Given the description of an element on the screen output the (x, y) to click on. 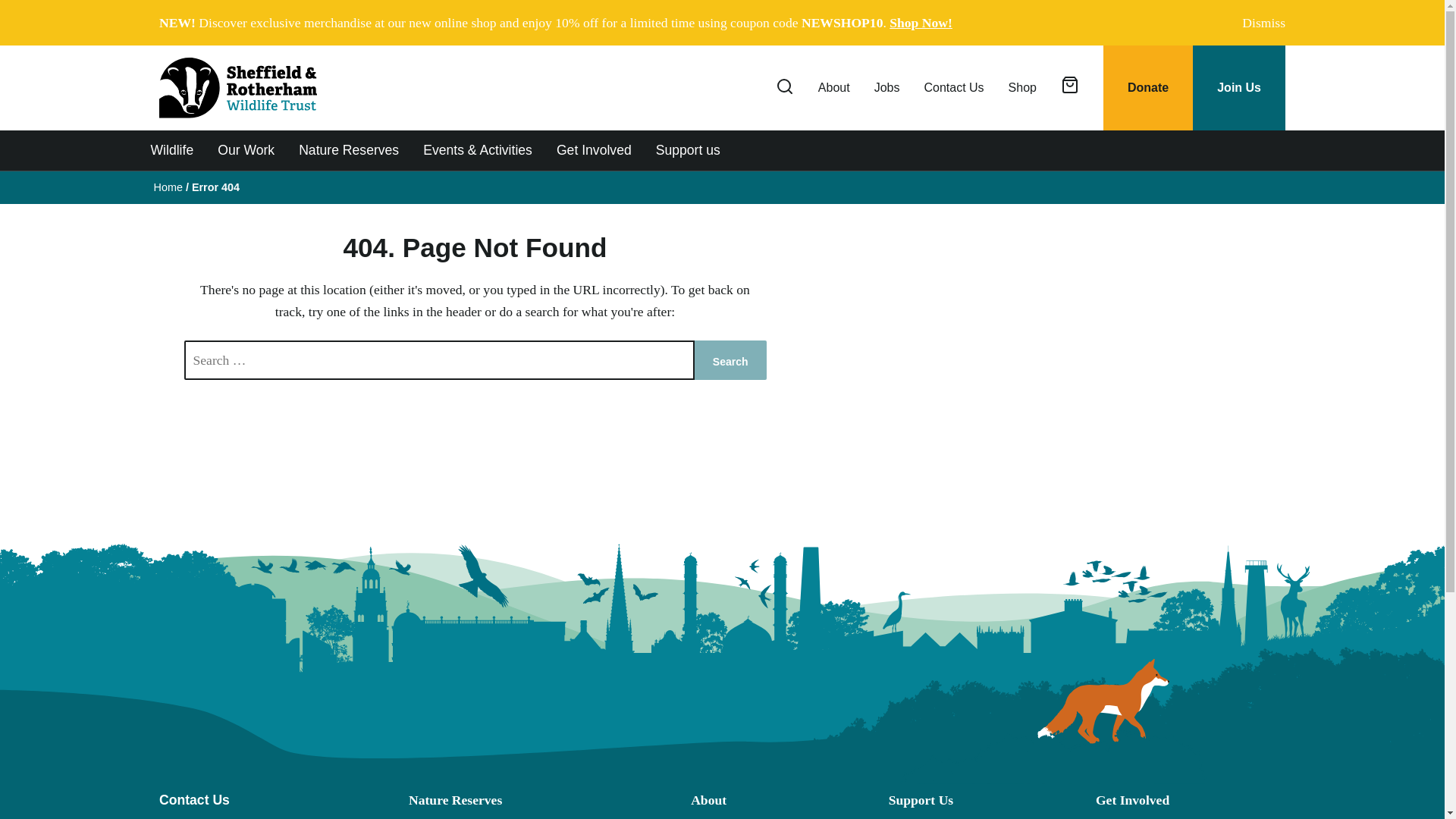
Search (730, 360)
Search (730, 360)
Search (1248, 262)
Donate (1147, 87)
Wildlife (171, 149)
Join Us (1238, 87)
Our Work (245, 149)
Contact Us (953, 87)
Shop Now! (920, 22)
Dismiss (1260, 22)
